Given the description of an element on the screen output the (x, y) to click on. 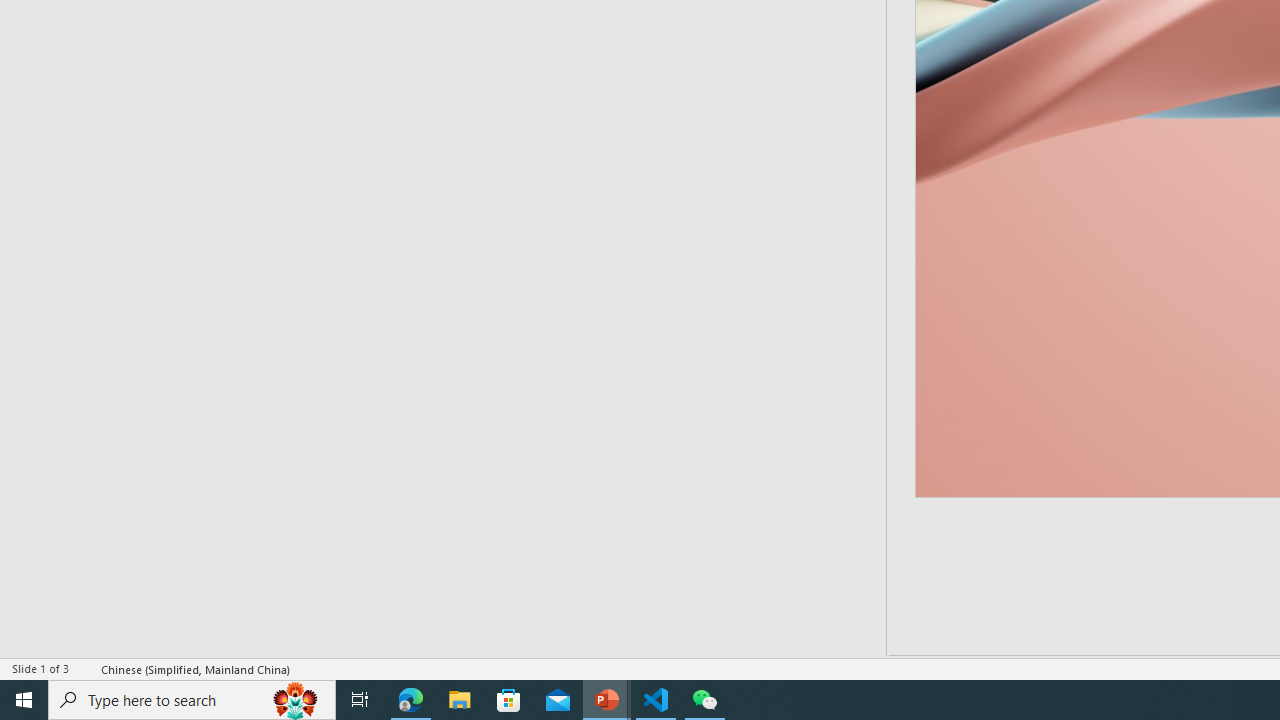
Spell Check  (86, 668)
